Given the description of an element on the screen output the (x, y) to click on. 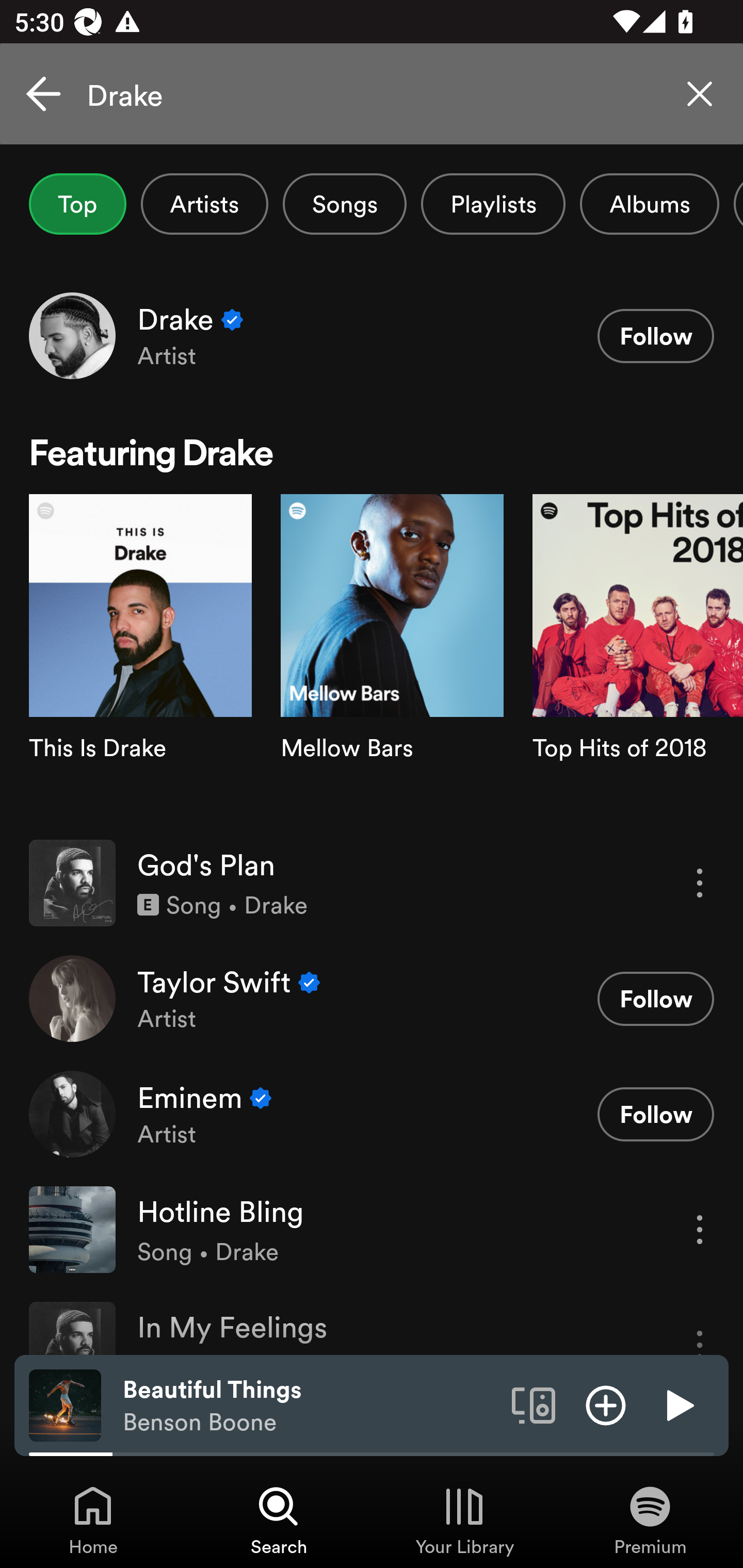
Drake (371, 93)
Cancel (43, 93)
Clear search query (699, 93)
Top (77, 203)
Artists (204, 203)
Songs (344, 203)
Playlists (493, 203)
Albums (649, 203)
Drake Verified Artist Follow Follow (371, 335)
Follow (655, 335)
Search card image This Is Drake (139, 658)
Search card image Mellow Bars (391, 658)
Search card image Top Hits of 2018 (637, 658)
More options for song God's Plan (699, 883)
Taylor Swift Verified Artist Follow Follow (371, 998)
Follow (655, 998)
Eminem Verified Artist Follow Follow (371, 1113)
Follow (655, 1113)
More options for song Hotline Bling (699, 1229)
Beautiful Things Benson Boone (309, 1405)
The cover art of the currently playing track (64, 1404)
Connect to a device. Opens the devices menu (533, 1404)
Add item (605, 1404)
Play (677, 1404)
Home, Tab 1 of 4 Home Home (92, 1519)
Search, Tab 2 of 4 Search Search (278, 1519)
Your Library, Tab 3 of 4 Your Library Your Library (464, 1519)
Premium, Tab 4 of 4 Premium Premium (650, 1519)
